Given the description of an element on the screen output the (x, y) to click on. 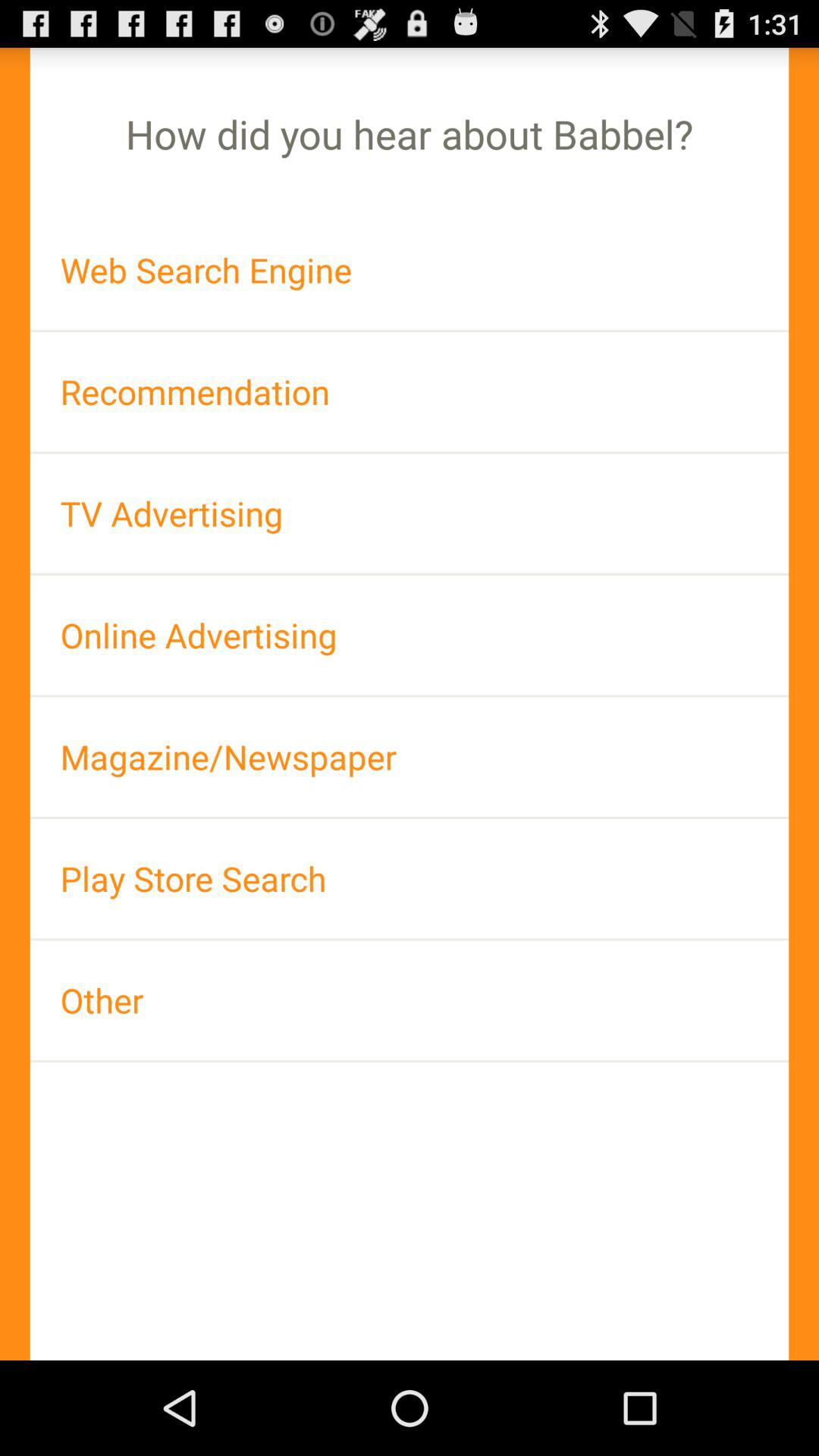
open the other at the bottom (409, 1000)
